Given the description of an element on the screen output the (x, y) to click on. 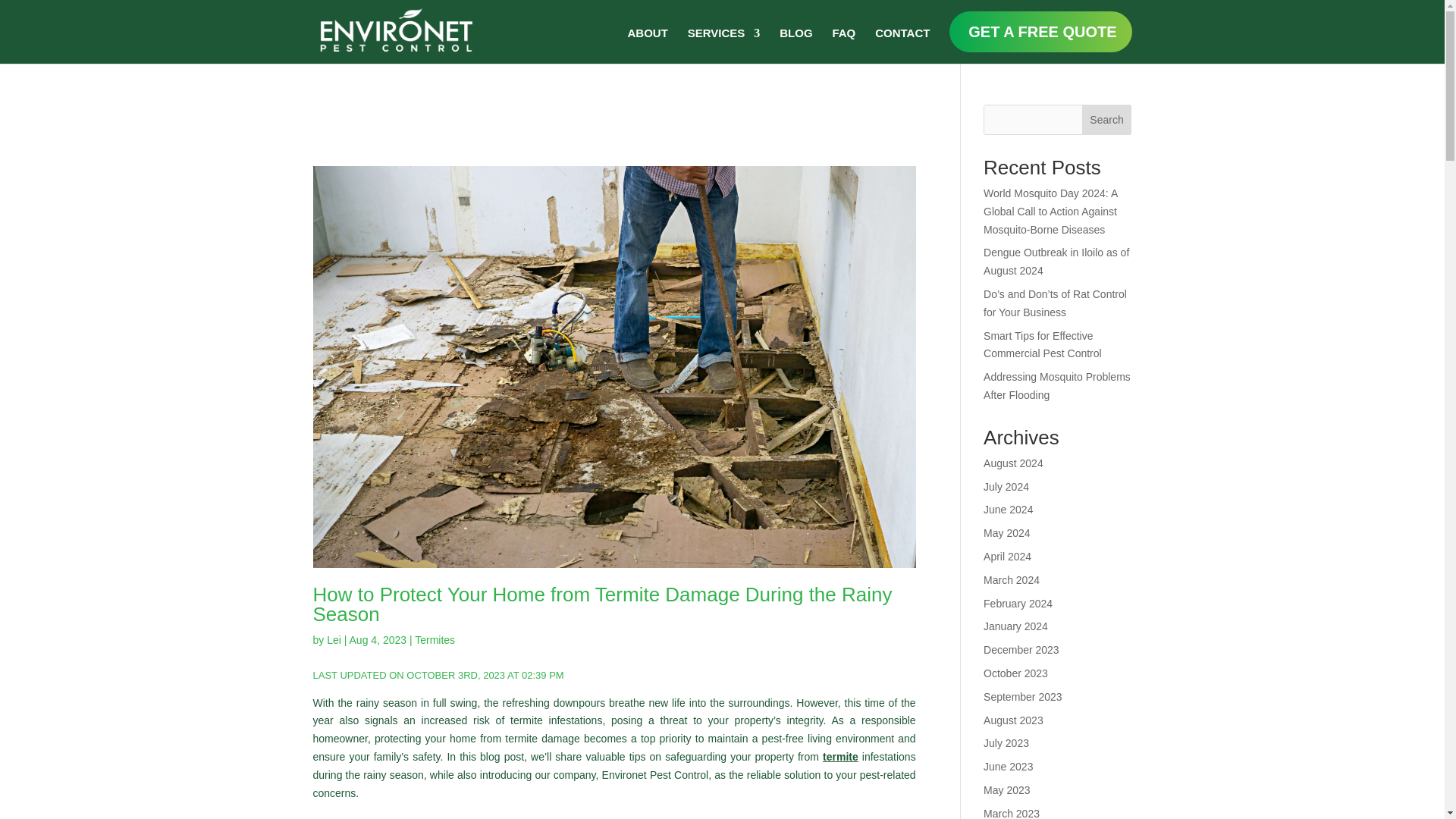
CONTACT (902, 38)
August 2024 (1013, 463)
December 2023 (1021, 649)
FAQ (843, 38)
BLOG (795, 38)
Lei (333, 639)
Dengue Outbreak in Iloilo as of August 2024 (1056, 261)
March 2024 (1011, 580)
Addressing Mosquito Problems After Flooding (1057, 386)
